Given the description of an element on the screen output the (x, y) to click on. 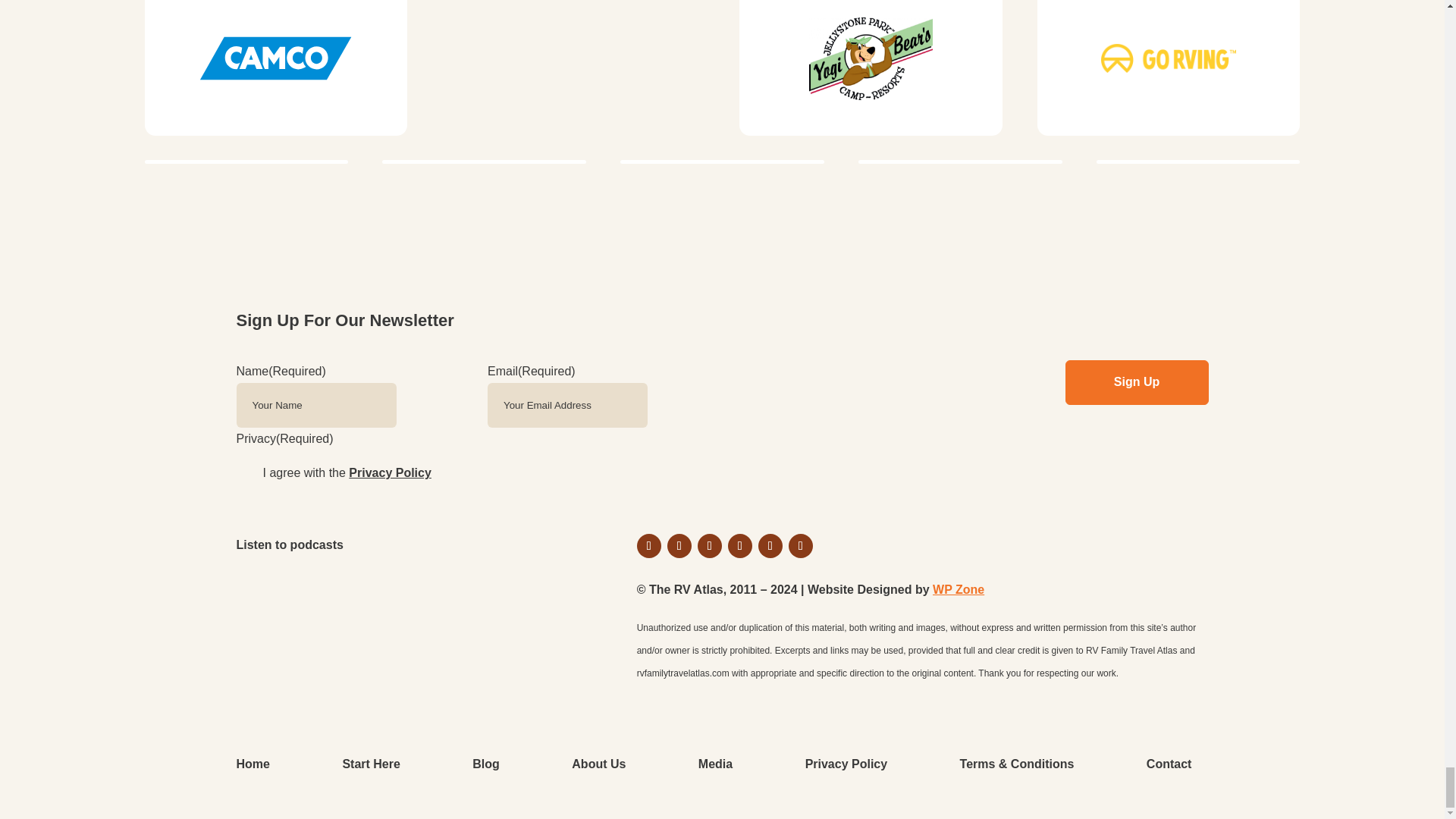
Sign Up (1136, 381)
camco (275, 67)
